Given the description of an element on the screen output the (x, y) to click on. 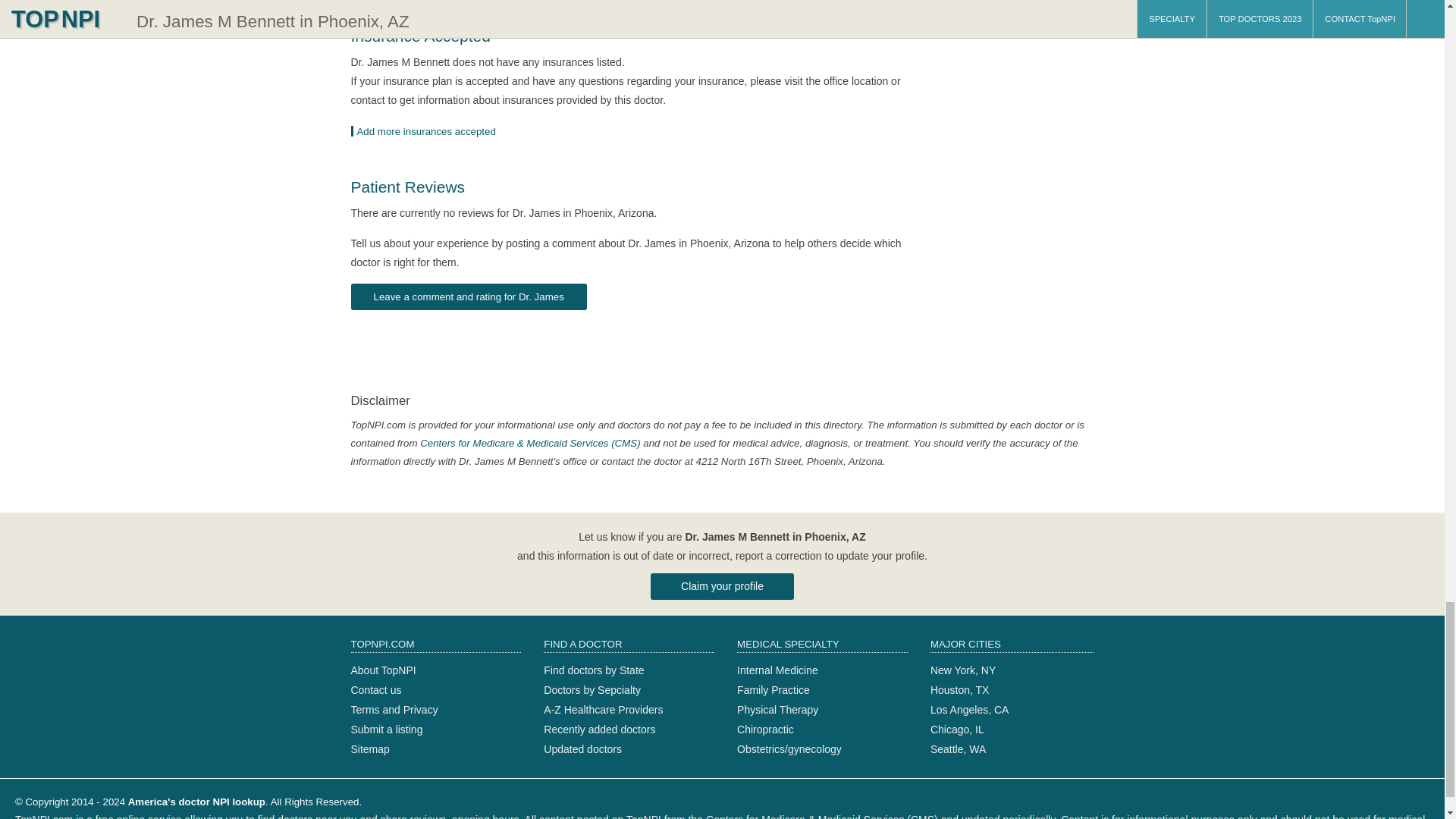
Update location (428, 131)
Claim your profile (721, 586)
Leave a comment and rating for Dr. James (468, 296)
Add more insurances accepted (428, 131)
